Given the description of an element on the screen output the (x, y) to click on. 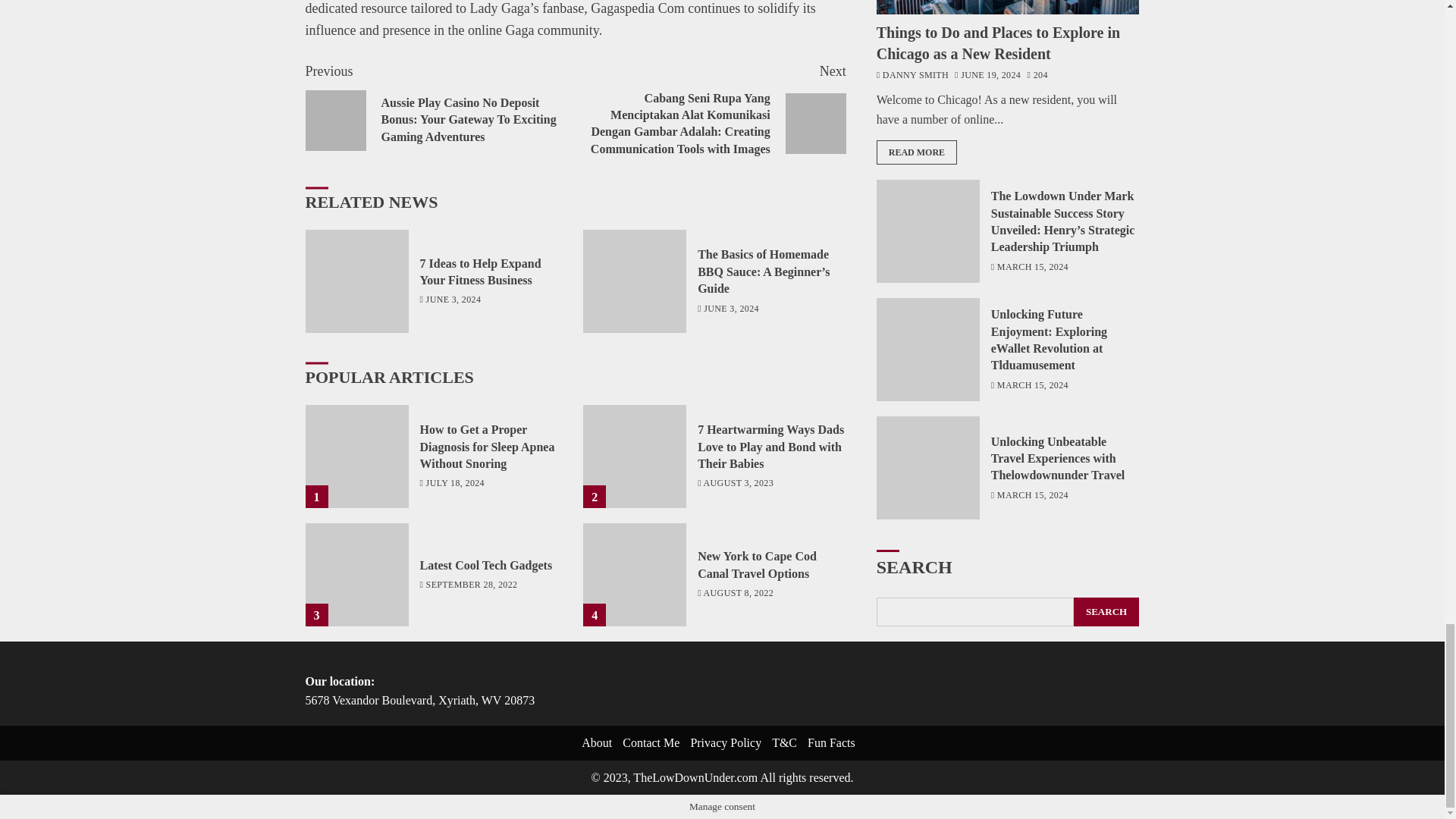
7 Ideas to Help Expand Your Fitness Business (480, 272)
Latest Cool Tech Gadgets (486, 565)
New York to Cape Cod Canal Travel Options (756, 564)
Latest Cool Tech Gadgets (355, 574)
7 Ideas to Help Expand Your Fitness Business (355, 281)
New York to Cape Cod Canal Travel Options (634, 574)
